Given the description of an element on the screen output the (x, y) to click on. 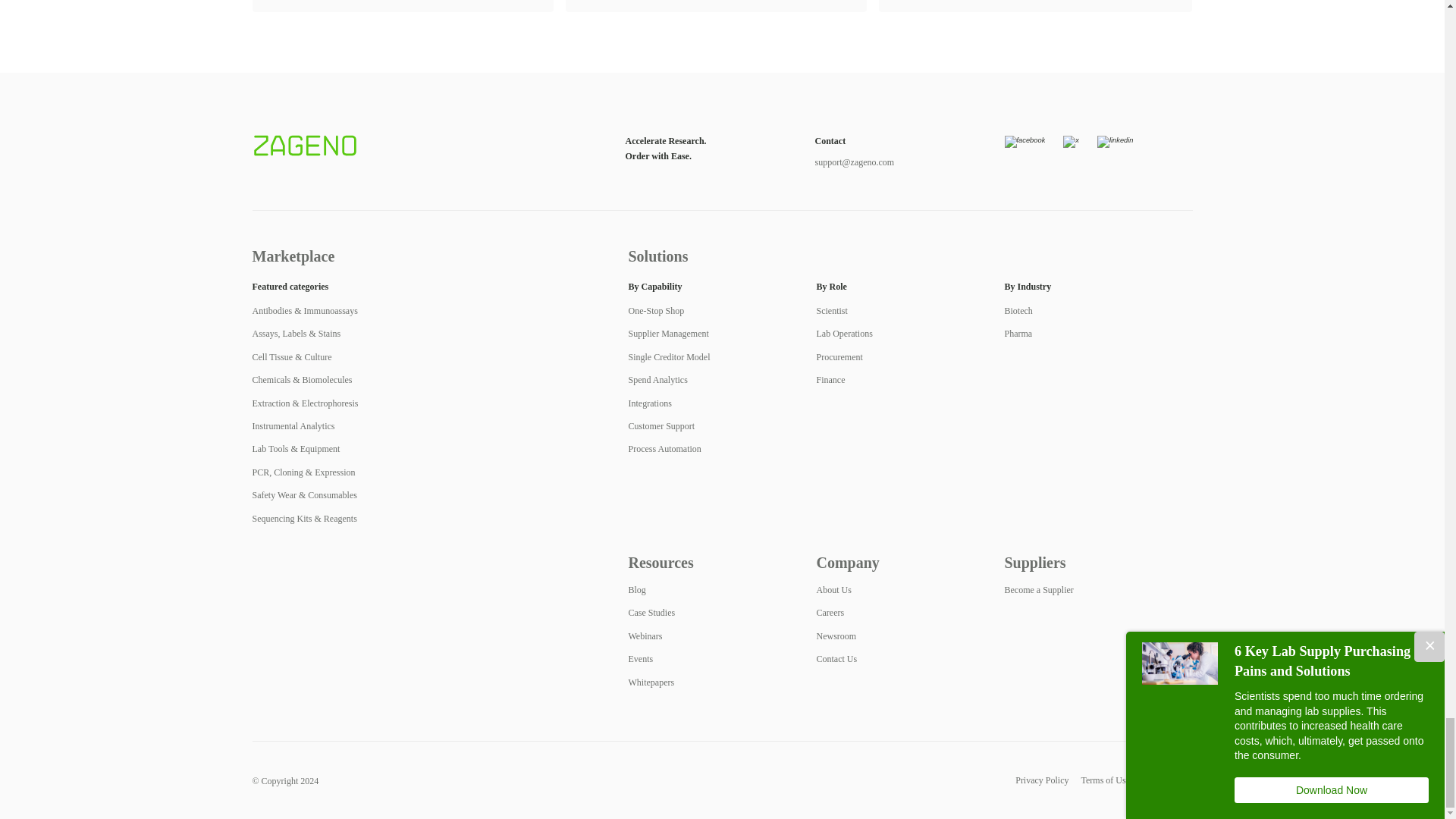
zageno.png (303, 145)
